Given the description of an element on the screen output the (x, y) to click on. 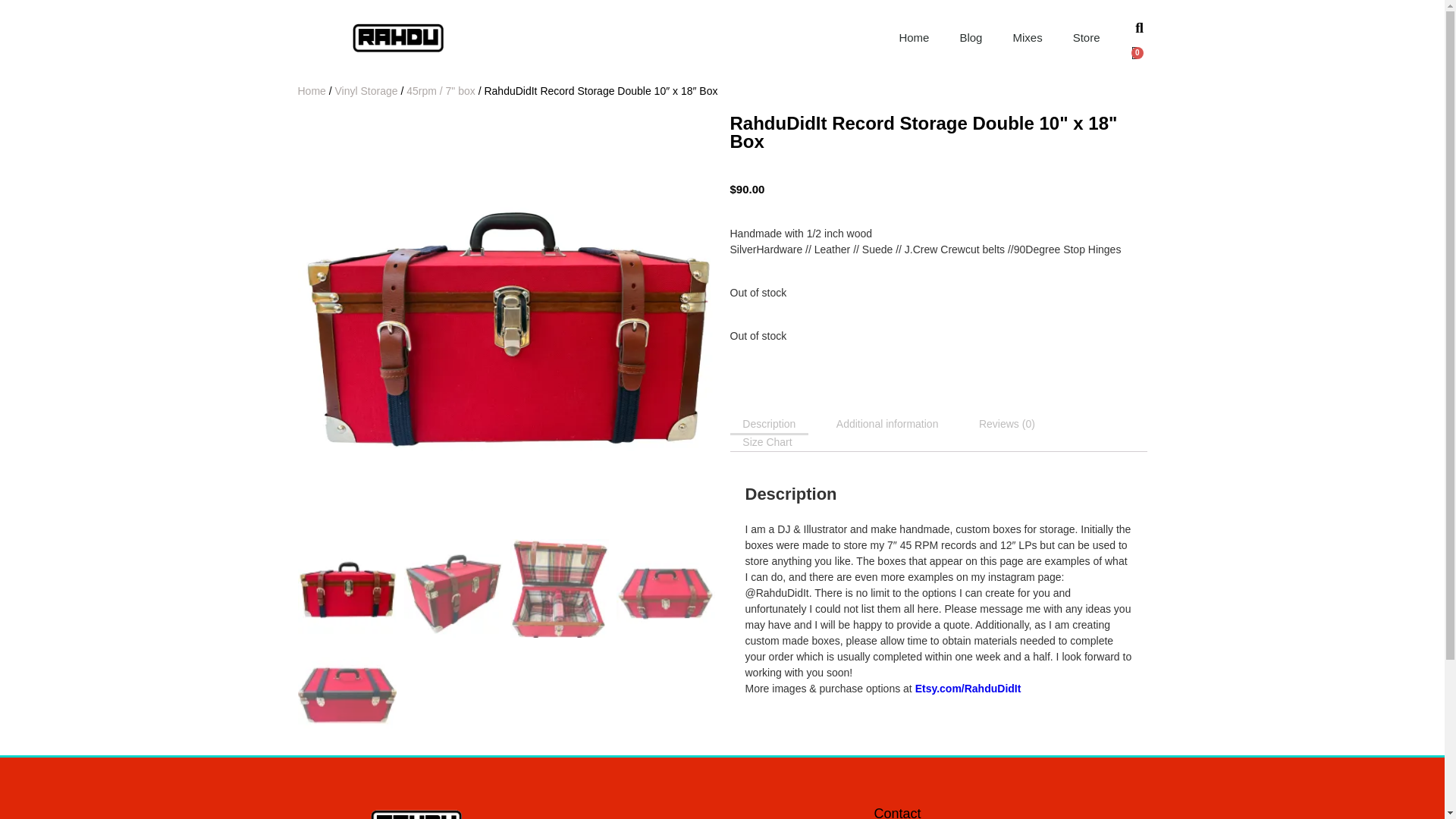
Home (310, 91)
Description (768, 423)
Vinyl Storage (365, 91)
Size Chart (767, 441)
Additional information (887, 423)
